Given the description of an element on the screen output the (x, y) to click on. 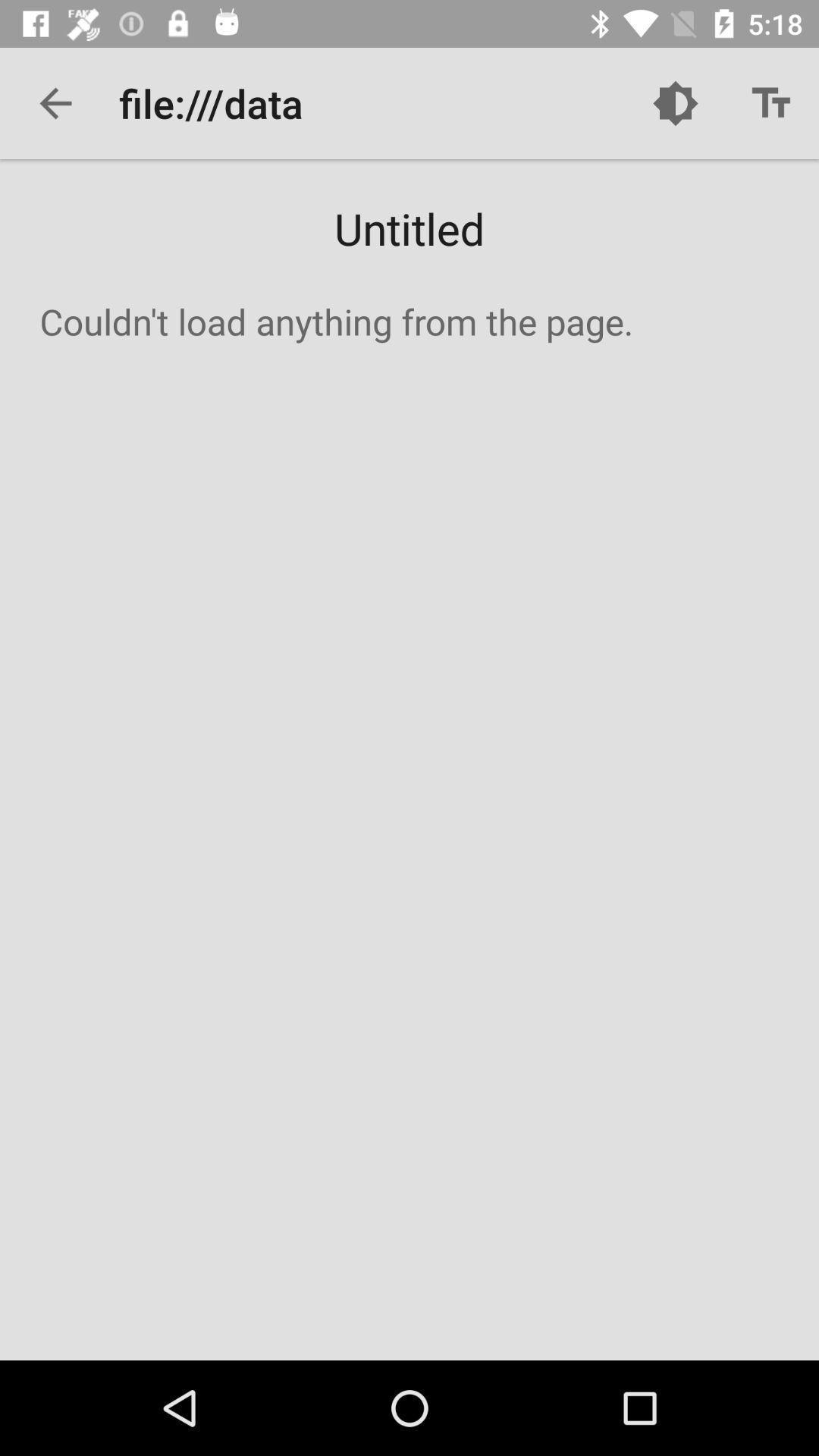
open icon next to the file:///data icon (675, 103)
